Given the description of an element on the screen output the (x, y) to click on. 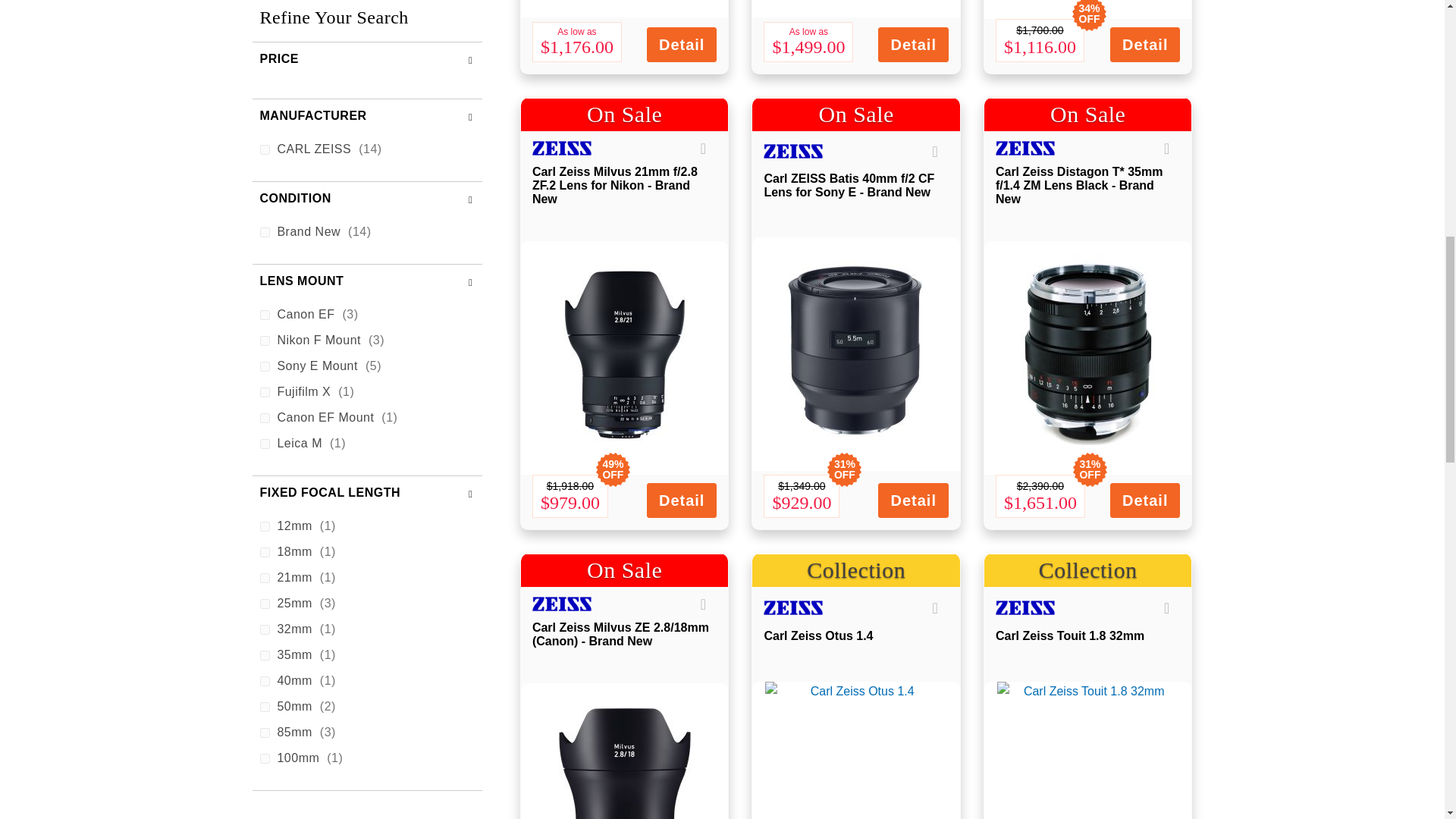
Detail (681, 44)
on (264, 111)
on (264, 162)
CARL ZEISS (573, 148)
on (264, 136)
on (264, 59)
on (264, 291)
on (264, 214)
on (264, 85)
on (264, 188)
